Given the description of an element on the screen output the (x, y) to click on. 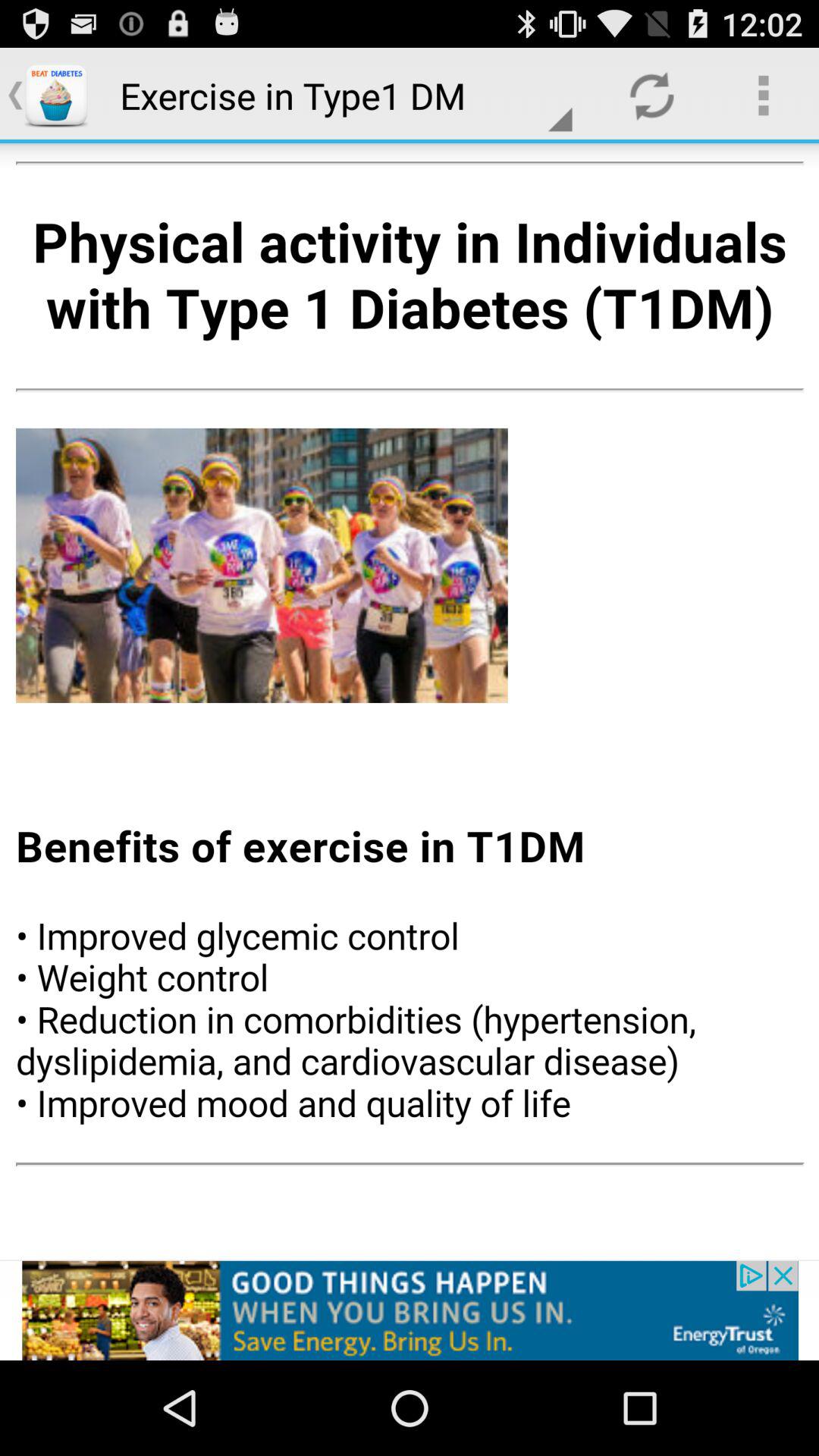
energy trust announcement (409, 1310)
